Given the description of an element on the screen output the (x, y) to click on. 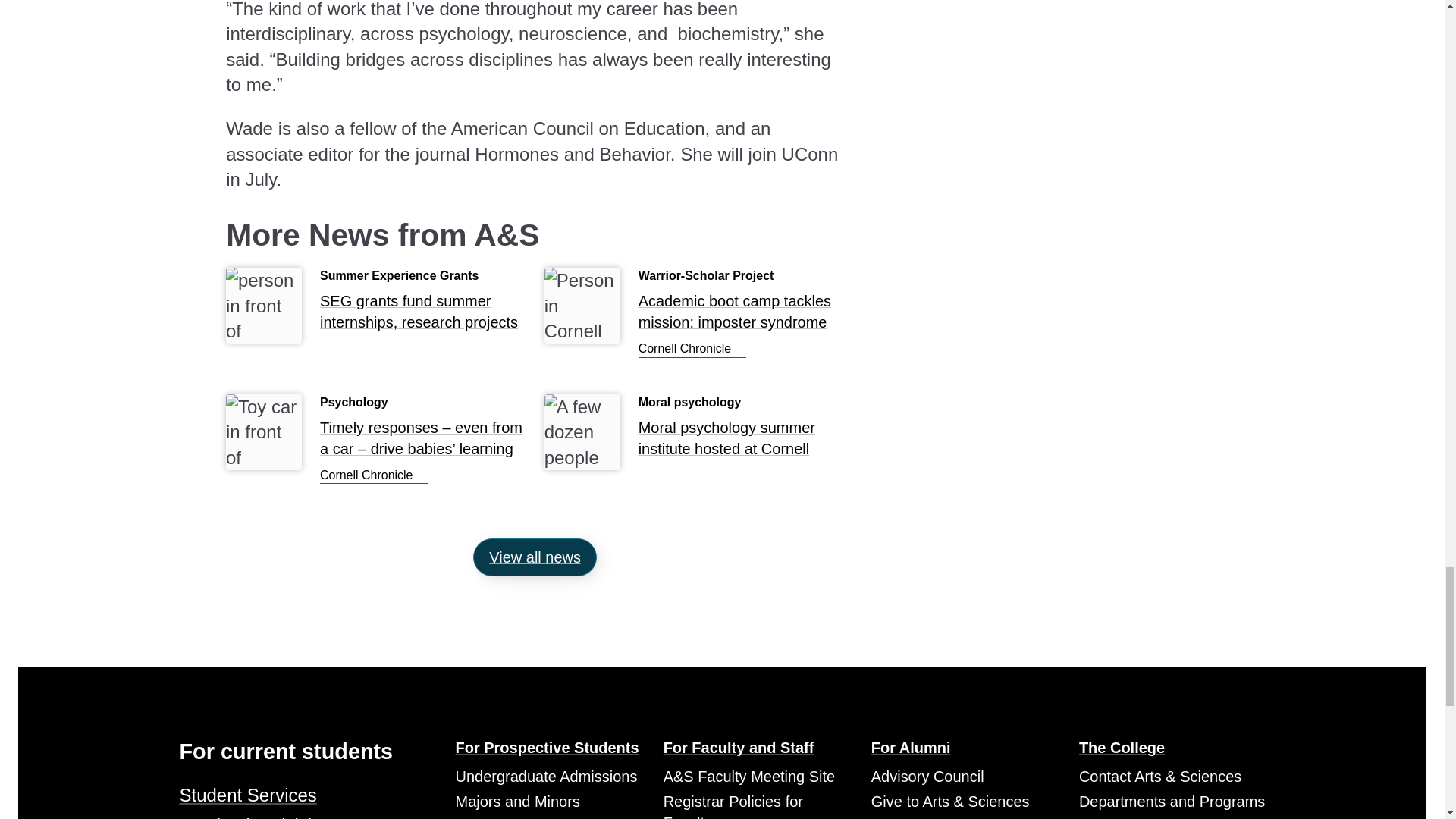
Moral psychology summer institute hosted at Cornell (741, 441)
SEG grants fund summer internships, research projects (422, 315)
Academic boot camp tackles mission: imposter syndrome  (692, 348)
Academic boot camp tackles mission: imposter syndrome  (741, 315)
